Given the description of an element on the screen output the (x, y) to click on. 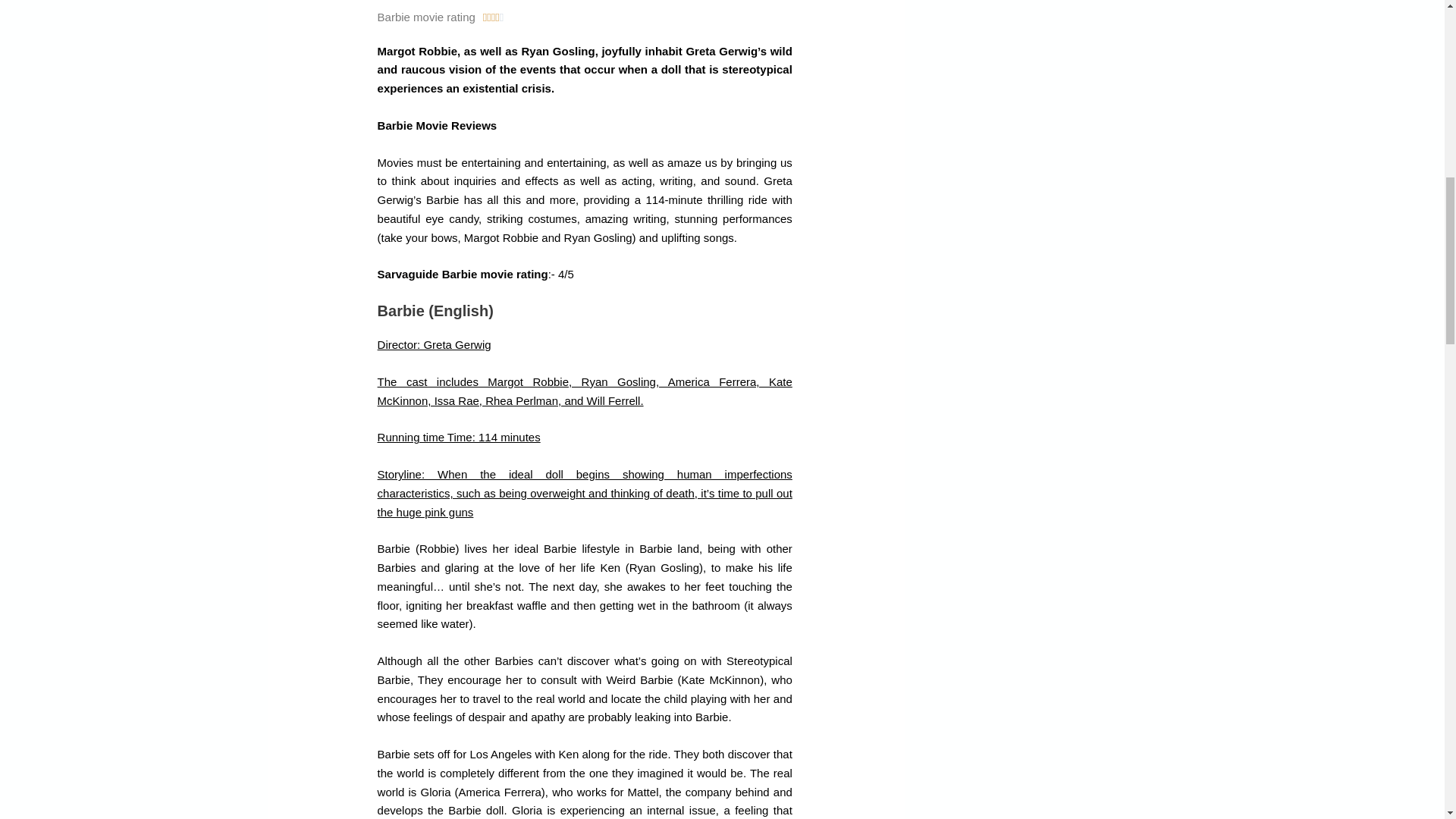
Sarvaguide (408, 273)
